Given the description of an element on the screen output the (x, y) to click on. 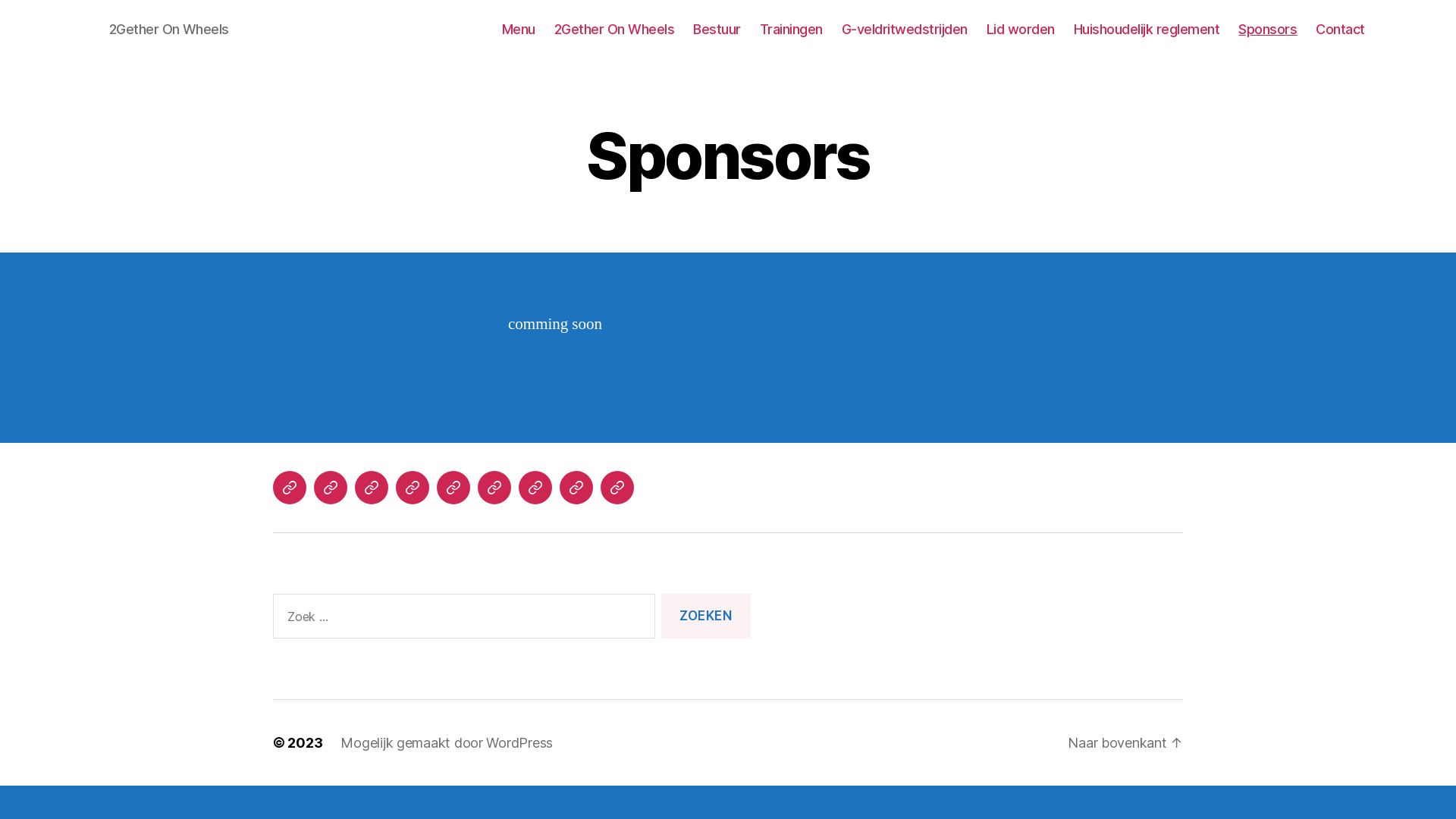
G-veldritwedstrijden Element type: text (453, 487)
Contact Element type: text (1340, 29)
Bestuur Element type: text (371, 487)
Menu Element type: text (289, 487)
G-veldritwedstrijden Element type: text (904, 29)
Sponsors Element type: text (576, 487)
Trainingen Element type: text (790, 29)
Menu Element type: text (518, 29)
2Gether On Wheels Element type: text (330, 487)
Sponsors Element type: text (1267, 29)
2Gether On Wheels Element type: text (614, 29)
Bestuur Element type: text (716, 29)
Contact Element type: text (616, 487)
Zoeken Element type: text (705, 615)
Huishoudelijk reglement Element type: text (535, 487)
Huishoudelijk reglement Element type: text (1146, 29)
Mogelijk gemaakt door WordPress Element type: text (446, 742)
Lid worden Element type: text (1020, 29)
Trainingen Element type: text (412, 487)
Lid worden Element type: text (494, 487)
